Given the description of an element on the screen output the (x, y) to click on. 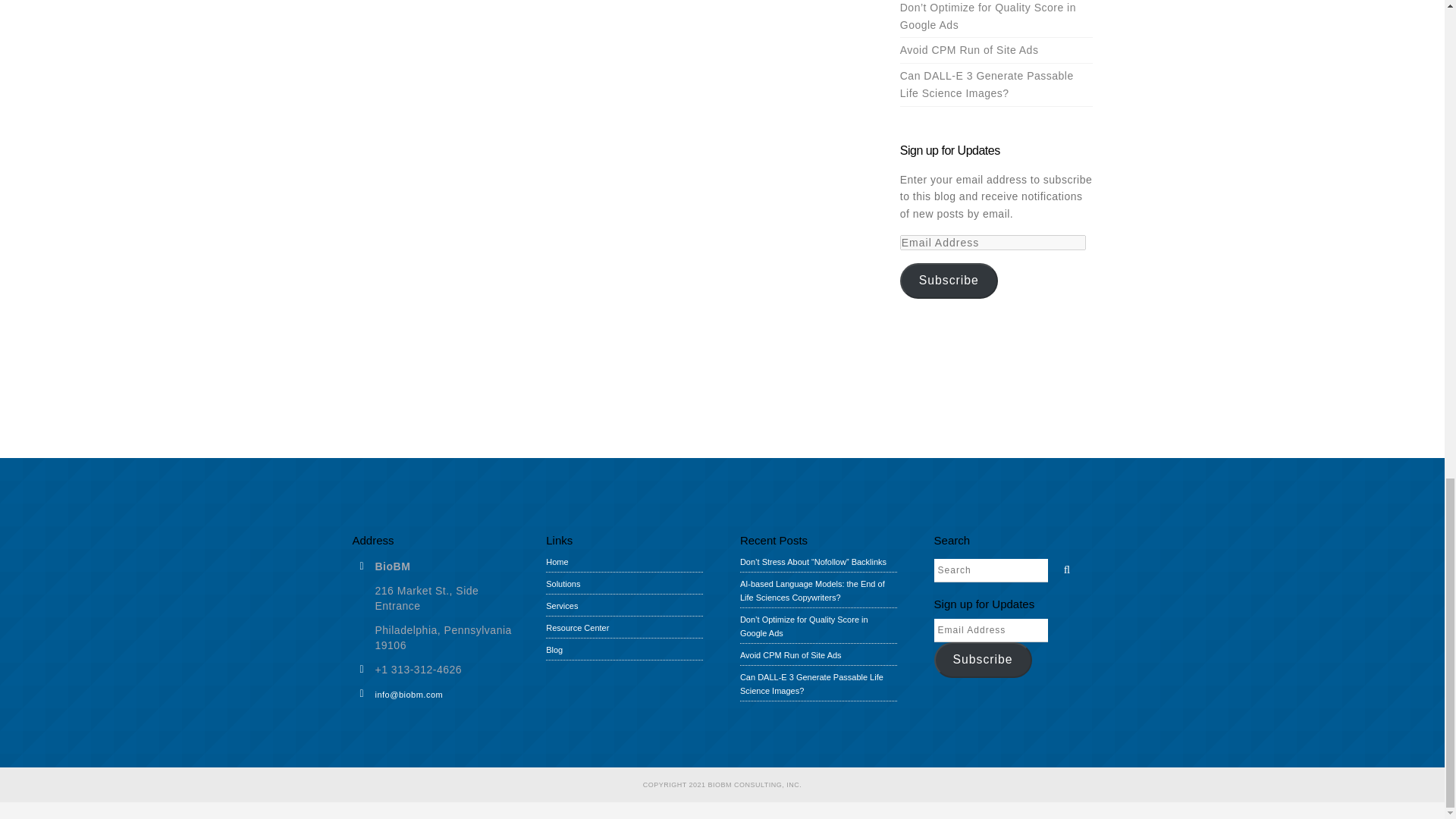
Search (991, 569)
Search (1063, 567)
